Given the description of an element on the screen output the (x, y) to click on. 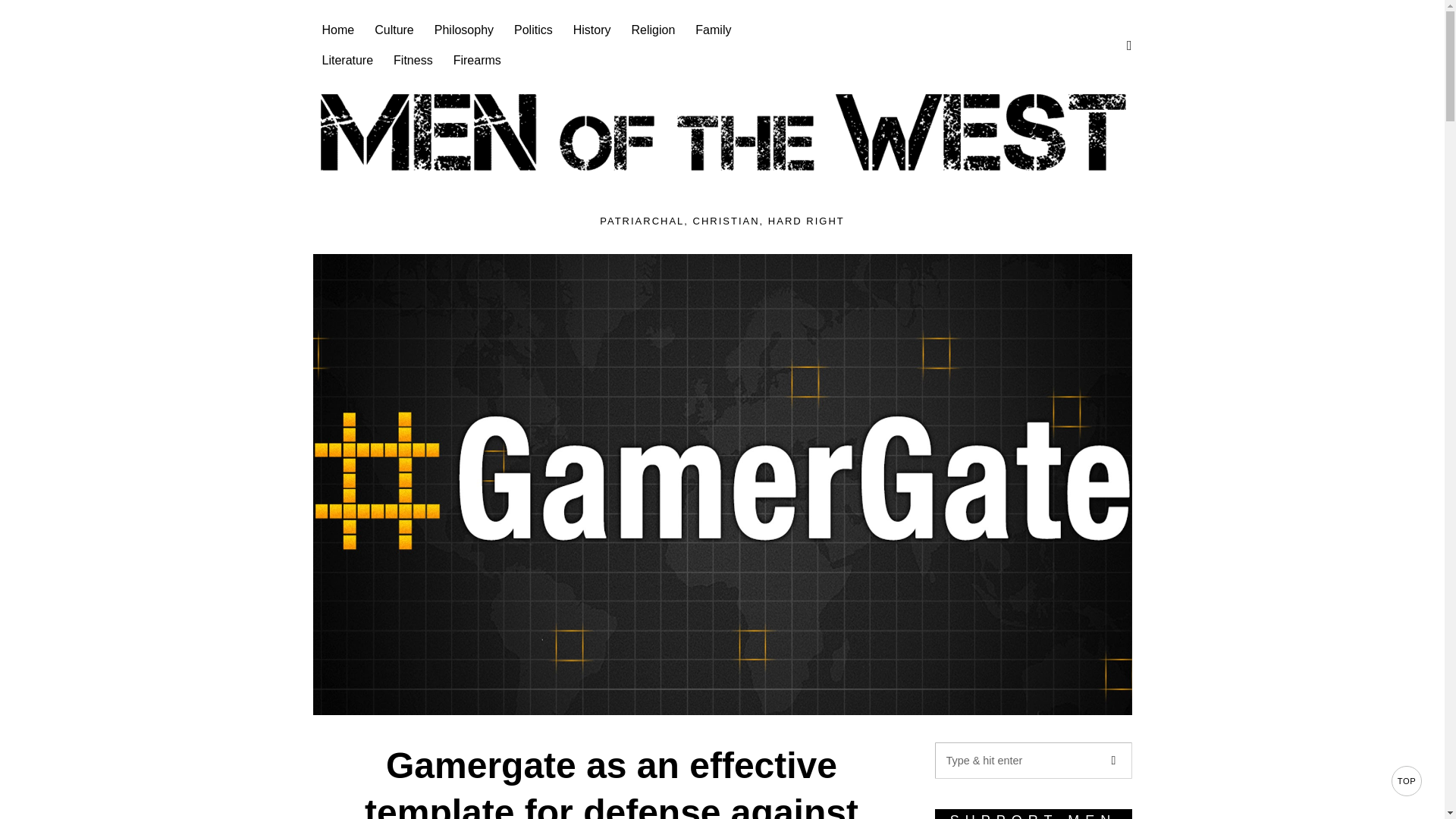
Go (1112, 760)
Fitness (414, 60)
Firearms (478, 60)
Politics (534, 30)
History (593, 30)
Philosophy (465, 30)
Culture (395, 30)
Home (339, 30)
Religion (655, 30)
Family (713, 30)
